Given the description of an element on the screen output the (x, y) to click on. 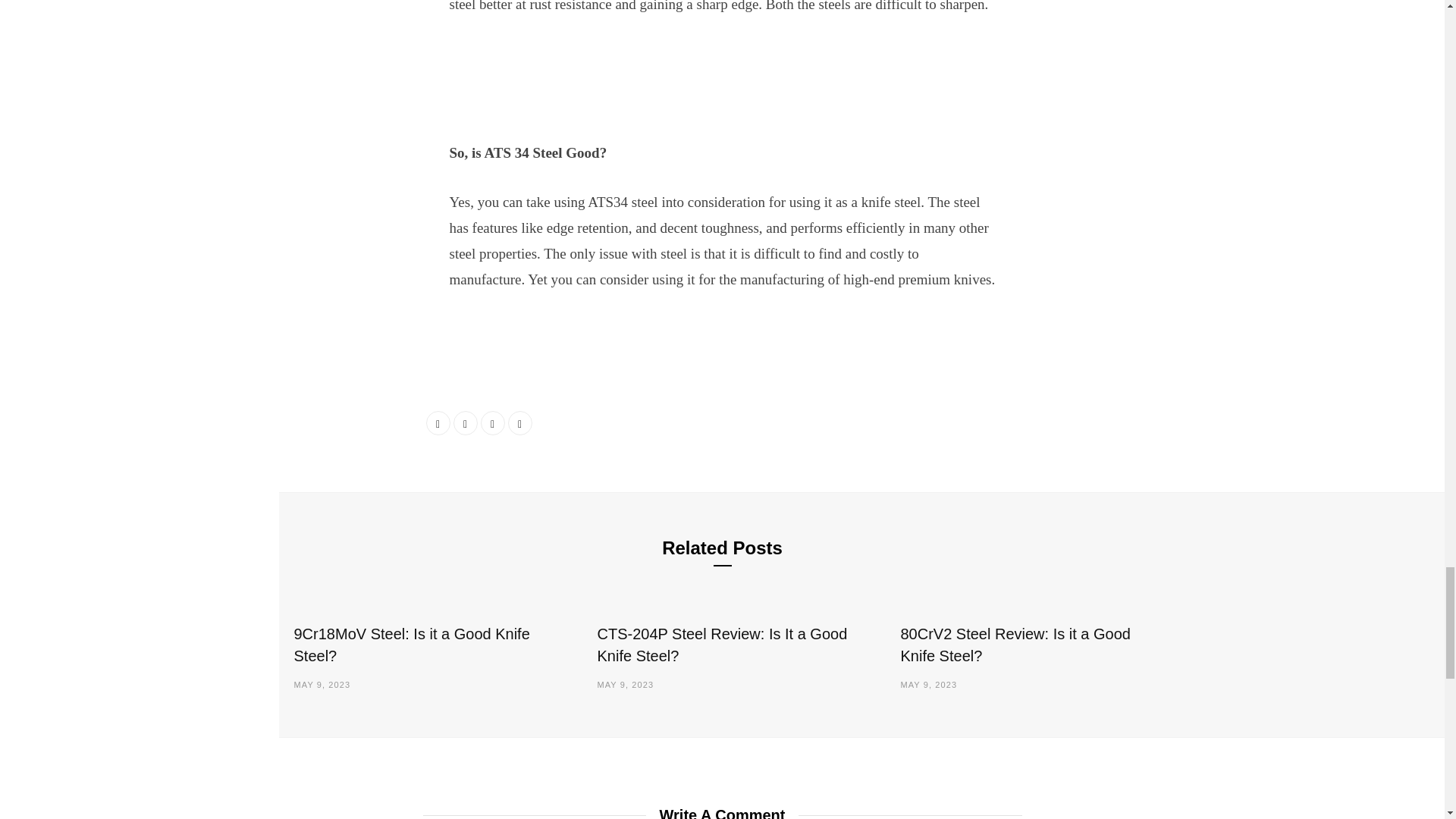
Share on Facebook (437, 422)
Share on Twitter (464, 422)
LinkedIn (492, 422)
Pinterest (520, 422)
